Given the description of an element on the screen output the (x, y) to click on. 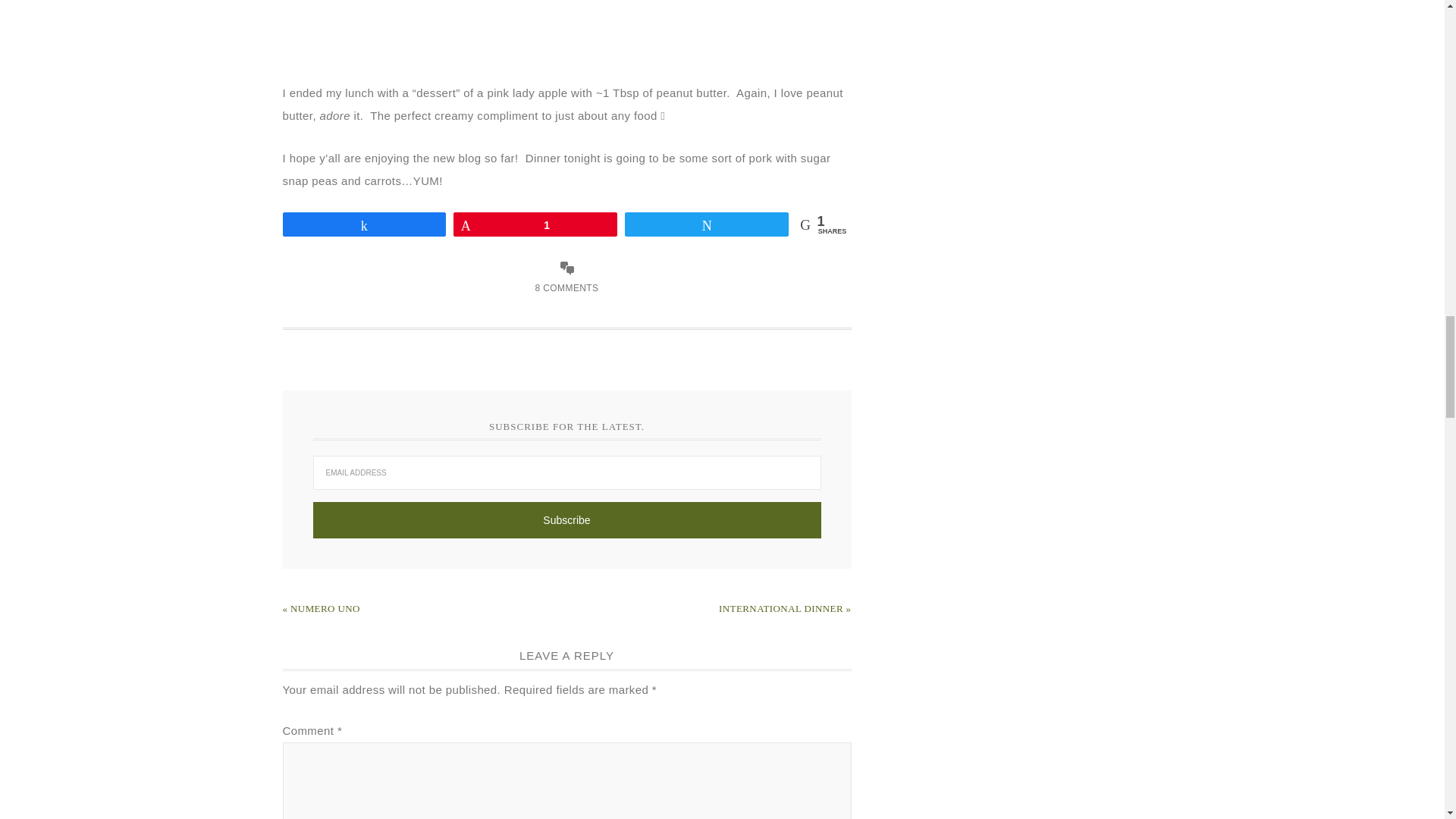
bfast-4 (567, 31)
Subscribe (567, 520)
Subscribe (567, 520)
8 COMMENTS (566, 287)
1 (534, 223)
